Given the description of an element on the screen output the (x, y) to click on. 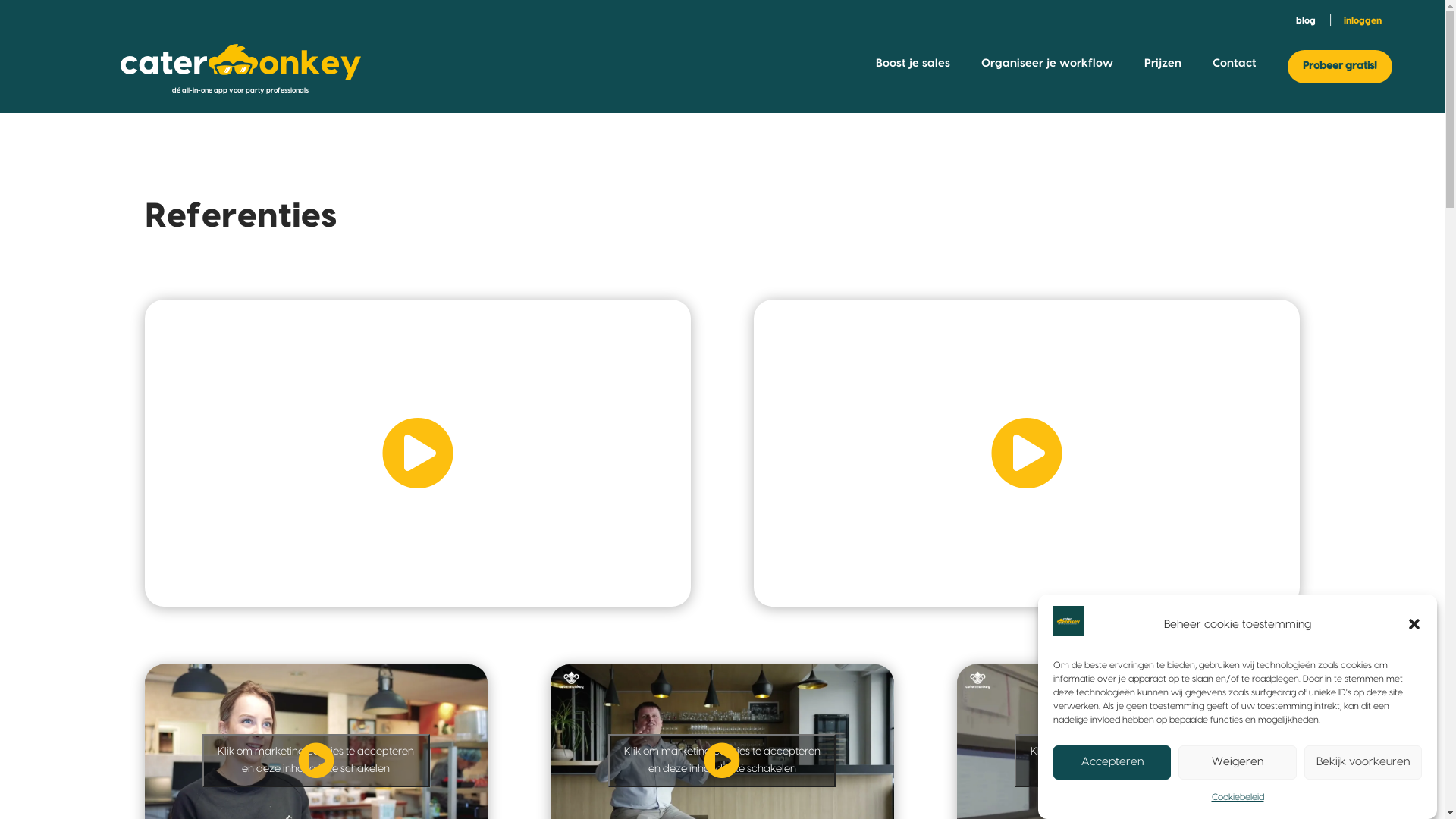
Probeer gratis! Element type: text (1339, 66)
Catermonkey - de sales en organisatietool voor cateraars Element type: hover (1026, 452)
Contact Element type: text (1234, 66)
inloggen Element type: text (1362, 20)
Organiseer je workflow Element type: text (1047, 66)
Prijzen Element type: text (1162, 66)
Boost je sales Element type: text (912, 66)
blog Element type: text (1305, 20)
catermonkey logo-no slogan Element type: hover (240, 61)
Bekijk voorkeuren Element type: text (1362, 762)
Accepteren Element type: text (1111, 762)
Cookiebeleid Element type: text (1237, 797)
Weigeren Element type: text (1236, 762)
Catermonkey bij de Boxy's en Balls&Glory van Wim Ballieu Element type: hover (417, 452)
